Given the description of an element on the screen output the (x, y) to click on. 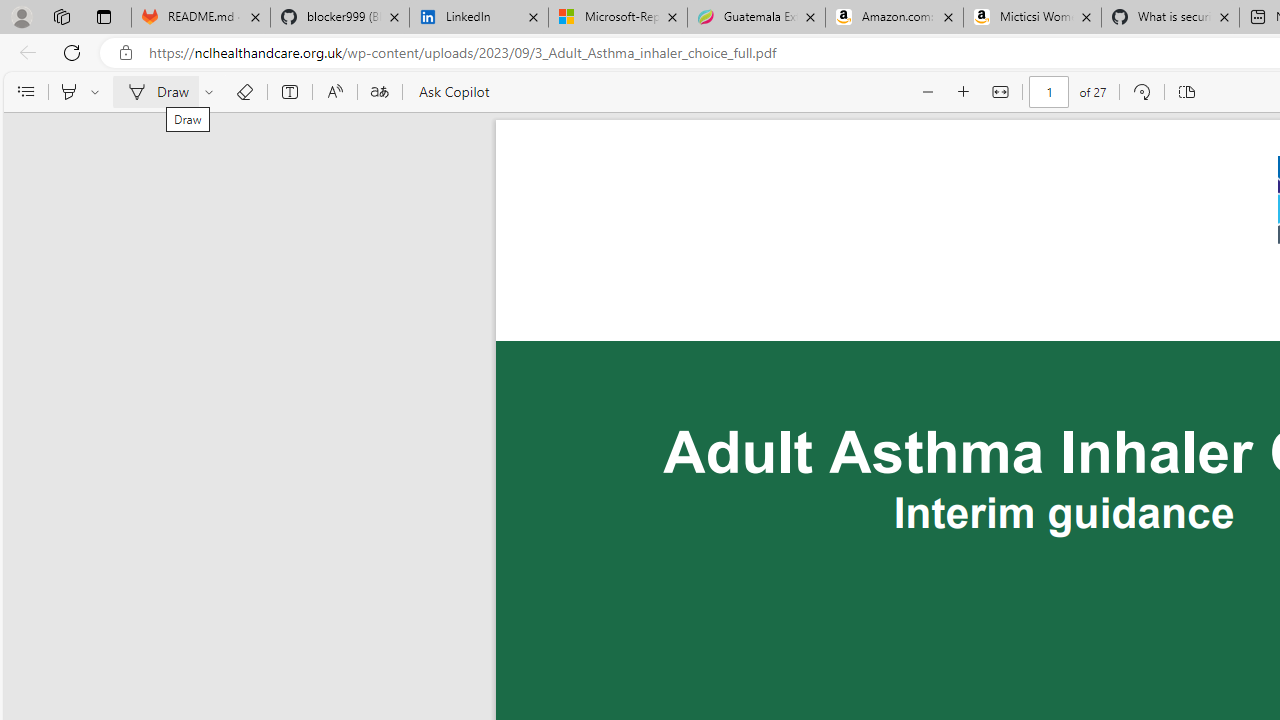
Highlight (68, 92)
Add text (289, 92)
Page number (1049, 92)
Read aloud (334, 92)
